Given the description of an element on the screen output the (x, y) to click on. 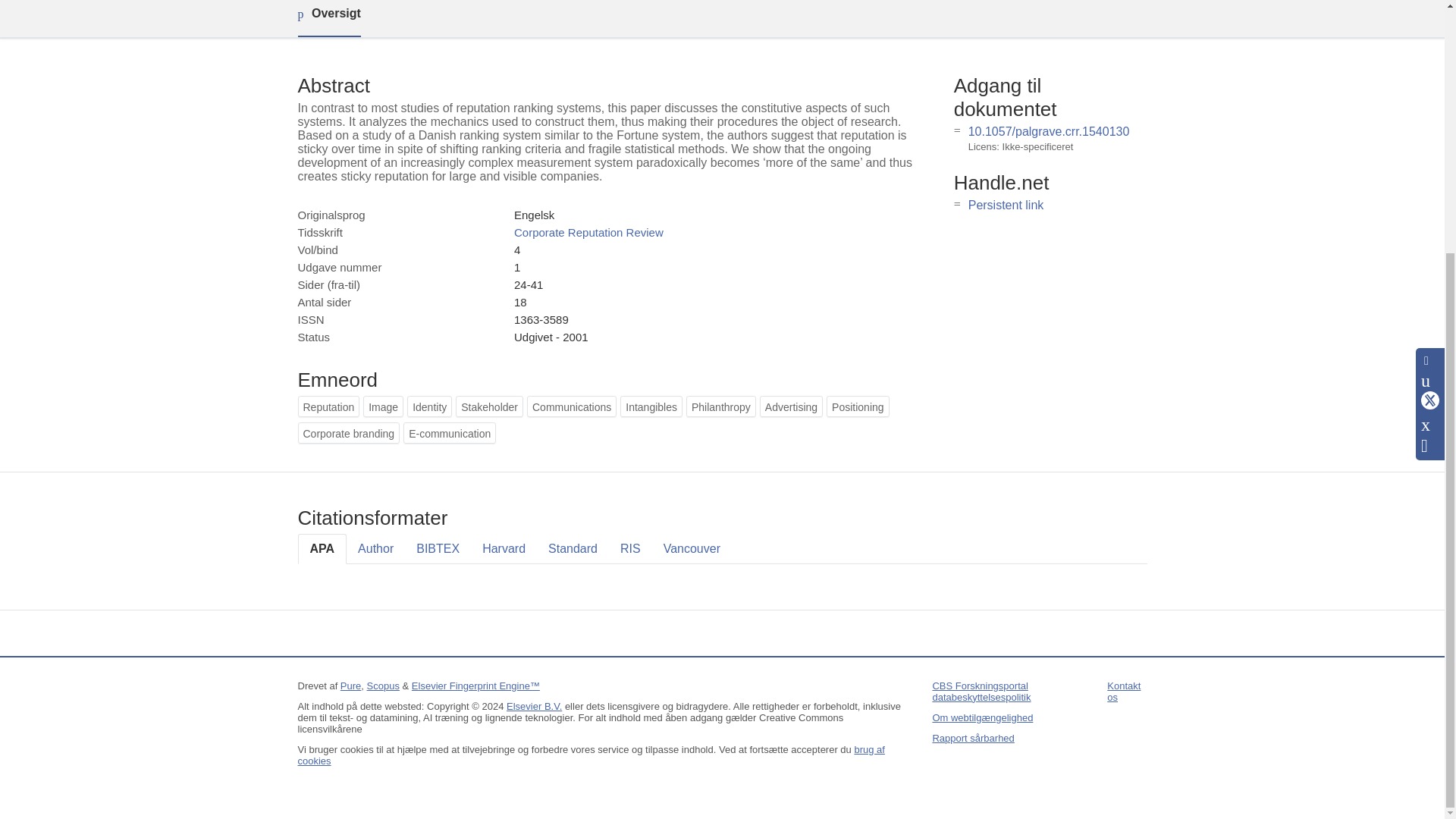
Corporate Reputation Review (588, 232)
Persistent link (1005, 205)
Oversigt (328, 18)
